Given the description of an element on the screen output the (x, y) to click on. 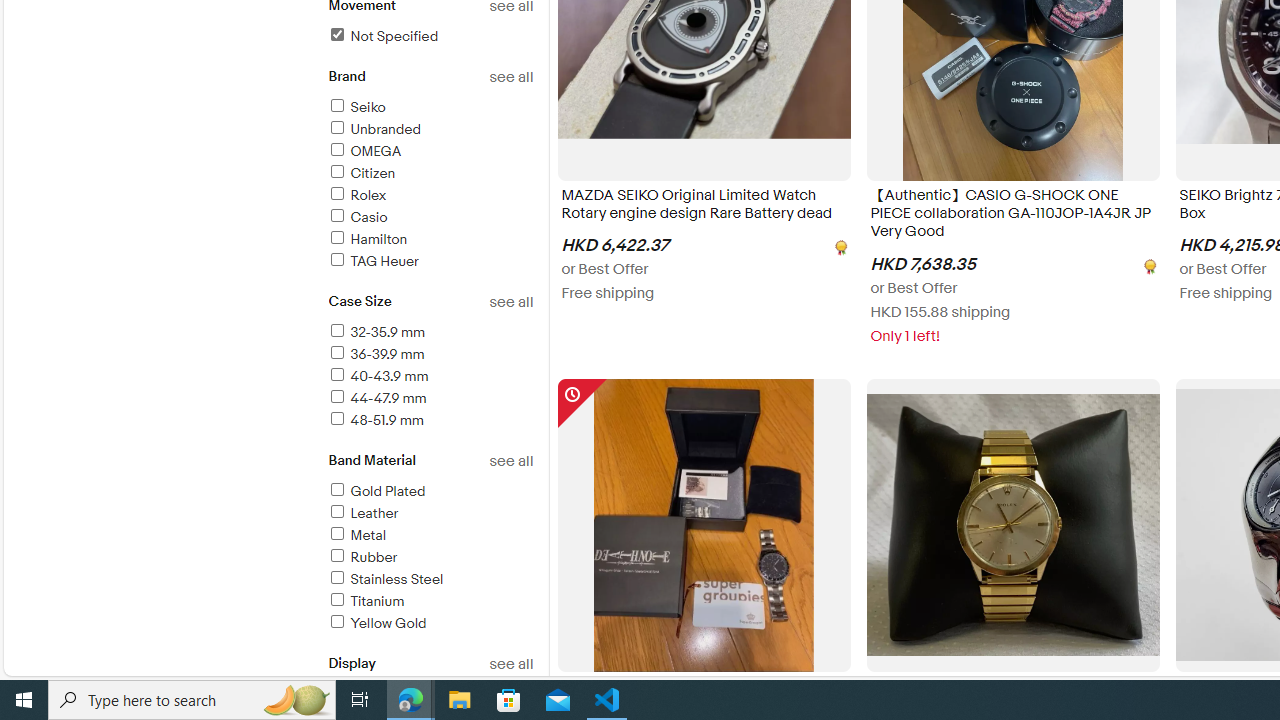
Rubber (362, 556)
See all display refinements (510, 664)
TAG Heuer (430, 262)
Unbranded (430, 129)
Yellow Gold (430, 624)
Citizen (430, 174)
48-51.9 mm (430, 421)
Casio (356, 217)
Gold Plated (430, 492)
See all case size refinements (510, 302)
See all band material refinements (510, 461)
Metal (430, 536)
[object Undefined] (1147, 264)
Metal (356, 535)
